Given the description of an element on the screen output the (x, y) to click on. 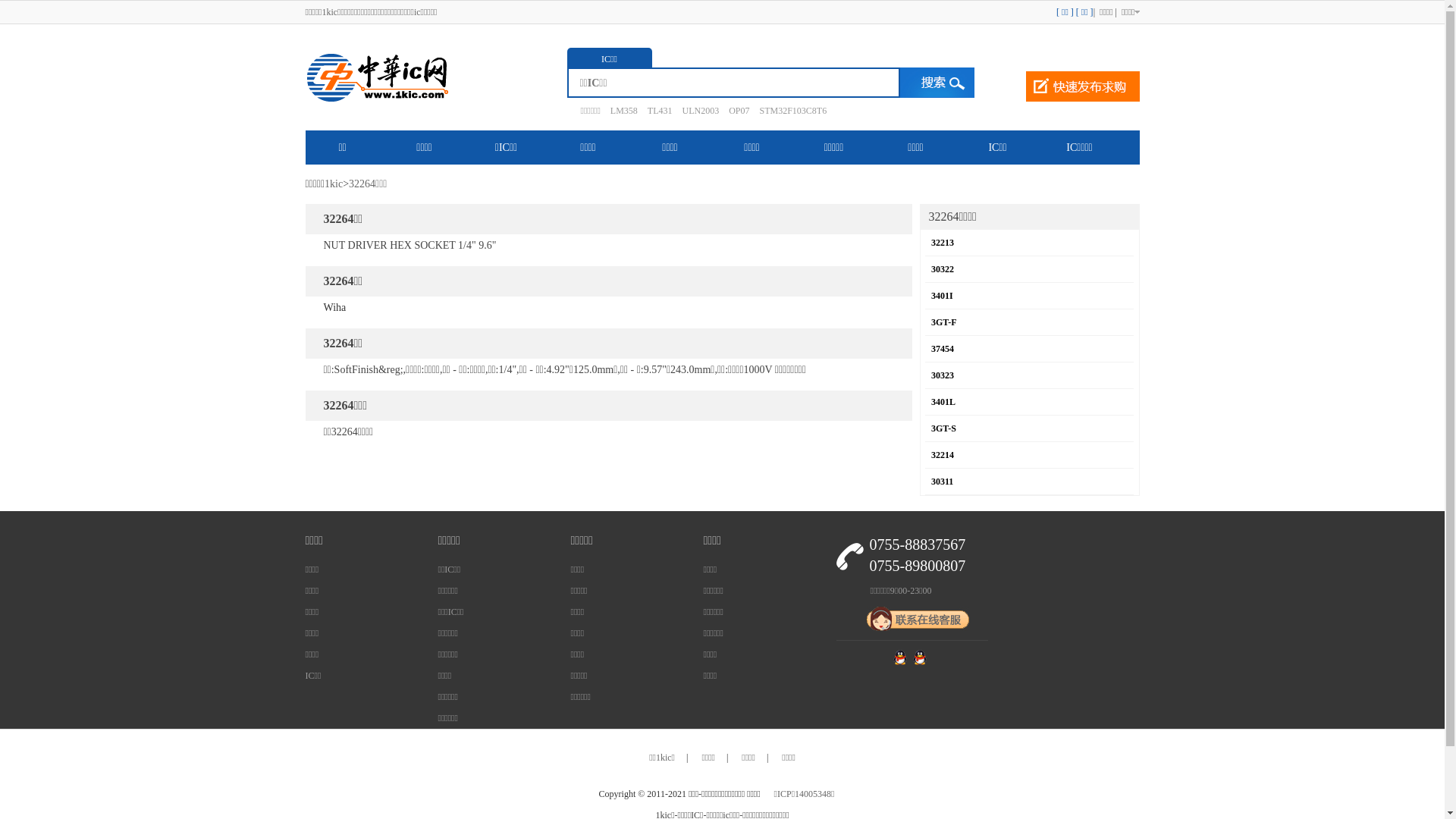
3401I Element type: text (942, 295)
1kic Element type: text (333, 183)
LM358 Element type: text (619, 110)
3401L Element type: text (943, 401)
ULN2003 Element type: text (696, 110)
STM32F103C8T6 Element type: text (788, 110)
30322 Element type: text (942, 268)
32214 Element type: text (942, 454)
TL431 Element type: text (656, 110)
30323 Element type: text (942, 375)
37454 Element type: text (942, 348)
30311 Element type: text (942, 481)
3GT-F Element type: text (944, 321)
Wiha Element type: text (334, 307)
3GT-S Element type: text (943, 428)
OP07 Element type: text (735, 110)
32213 Element type: text (942, 242)
